Given the description of an element on the screen output the (x, y) to click on. 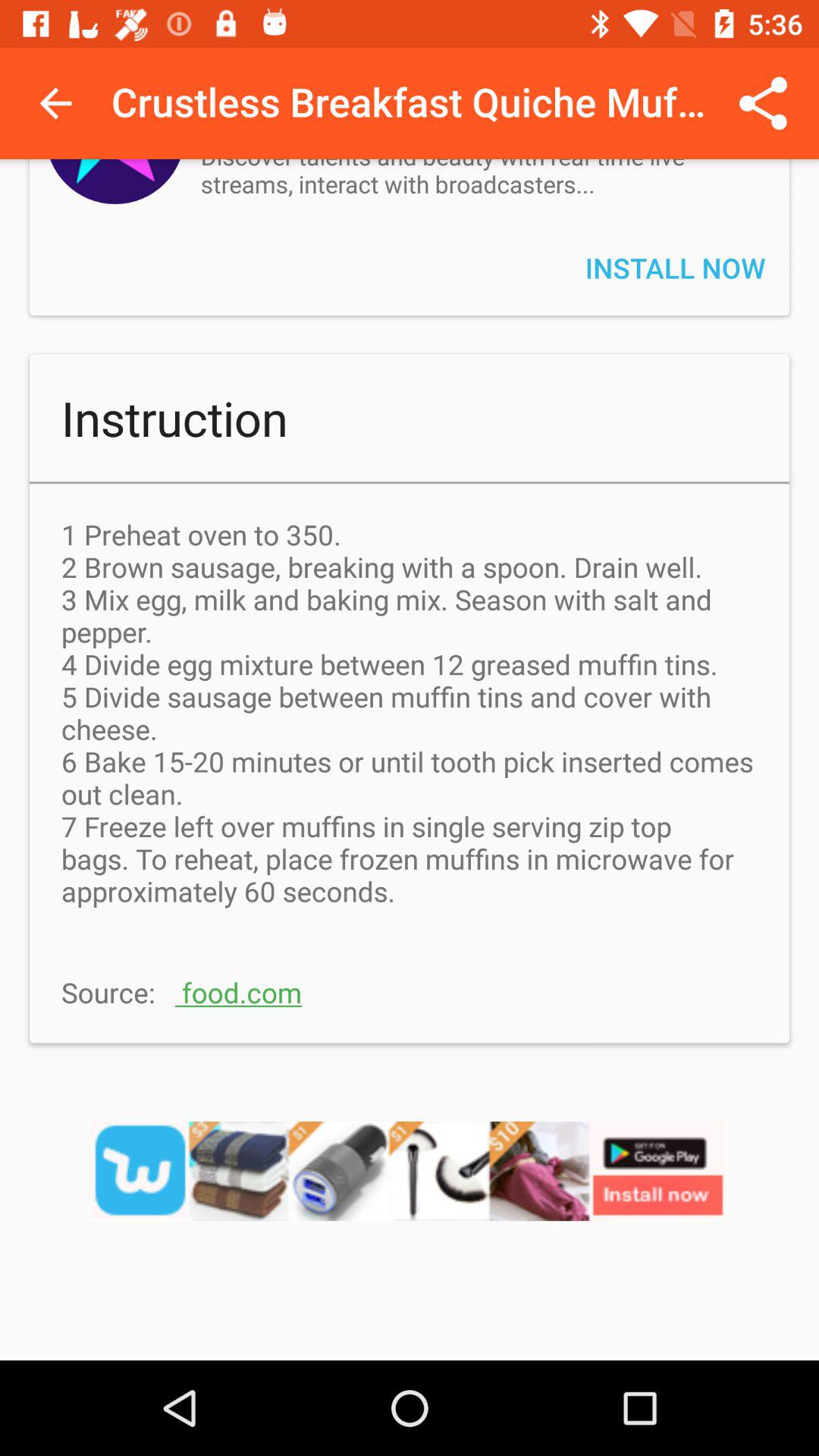
banner advertisement (409, 1190)
